Given the description of an element on the screen output the (x, y) to click on. 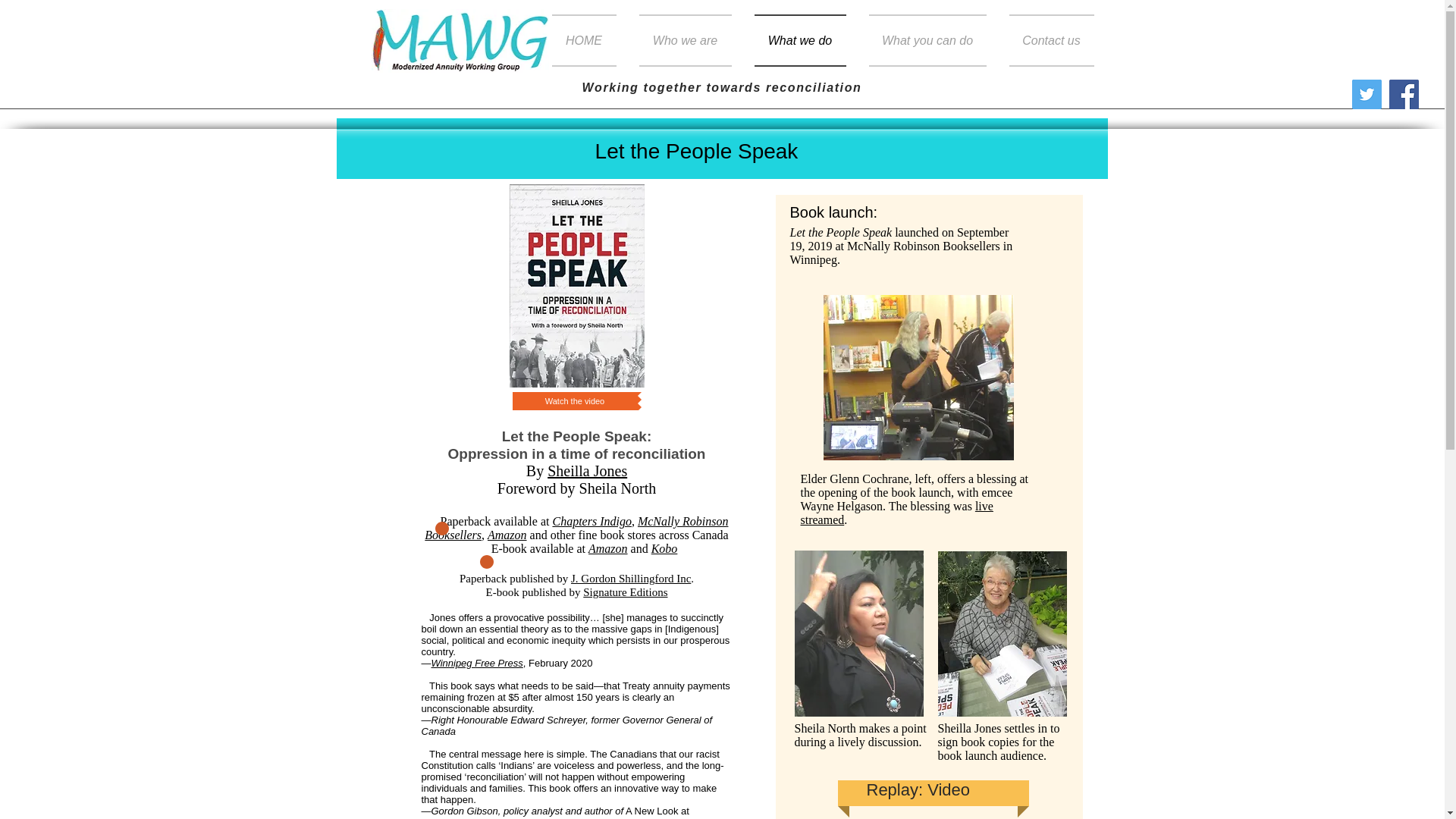
Chapters Indigo (590, 521)
Sheilla Jones (587, 470)
Edler Glenn Cochrane blesses launch of Let the People Speak (918, 377)
Amazon (607, 548)
Winnipeg Free Press (476, 663)
live streamed (896, 512)
HOME (589, 40)
Who we are (684, 40)
What you can do (927, 40)
What we do (799, 40)
